Given the description of an element on the screen output the (x, y) to click on. 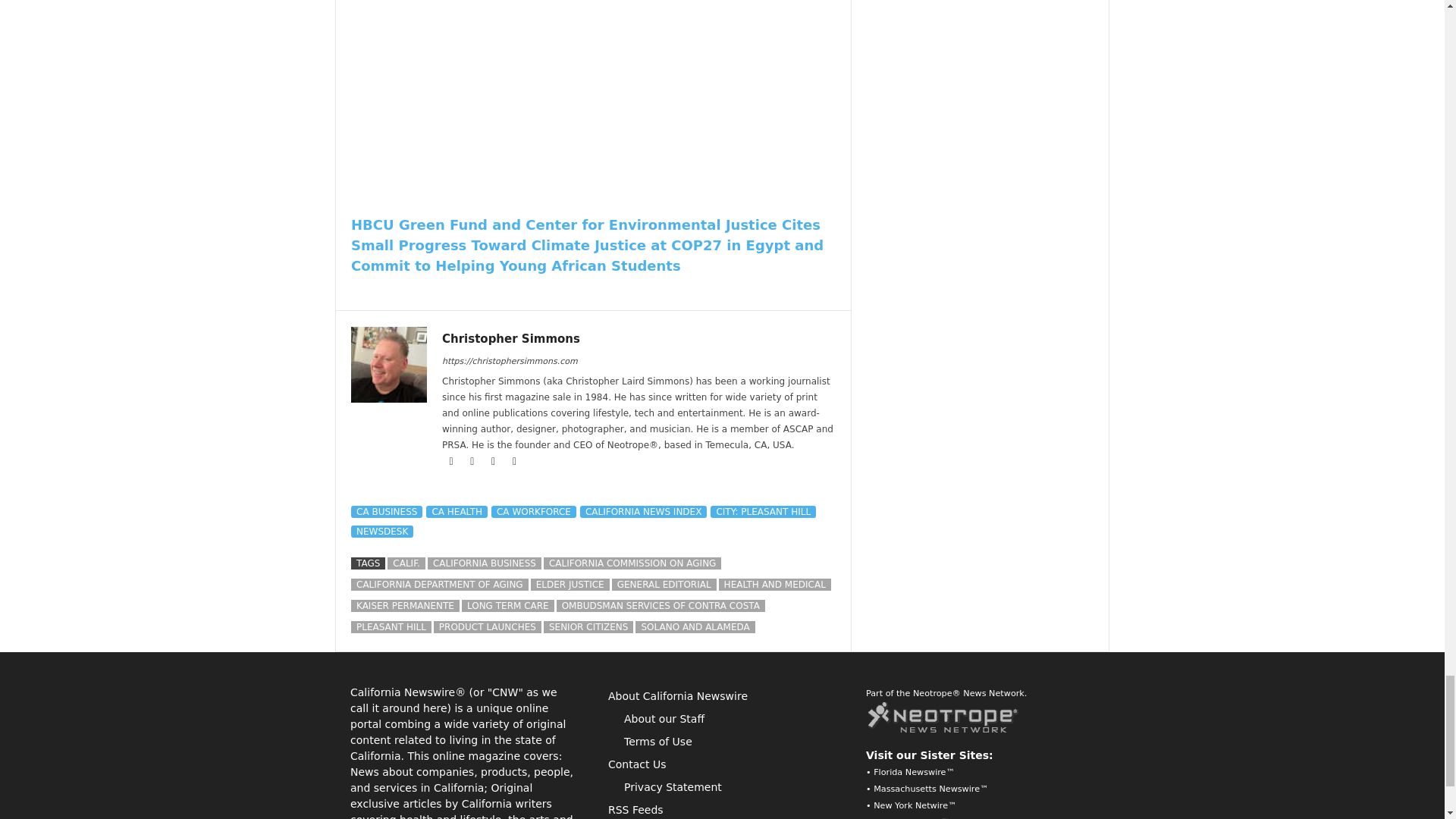
Linkedin (494, 461)
Twitter (513, 461)
Instagram (473, 461)
Facebook (452, 461)
